Given the description of an element on the screen output the (x, y) to click on. 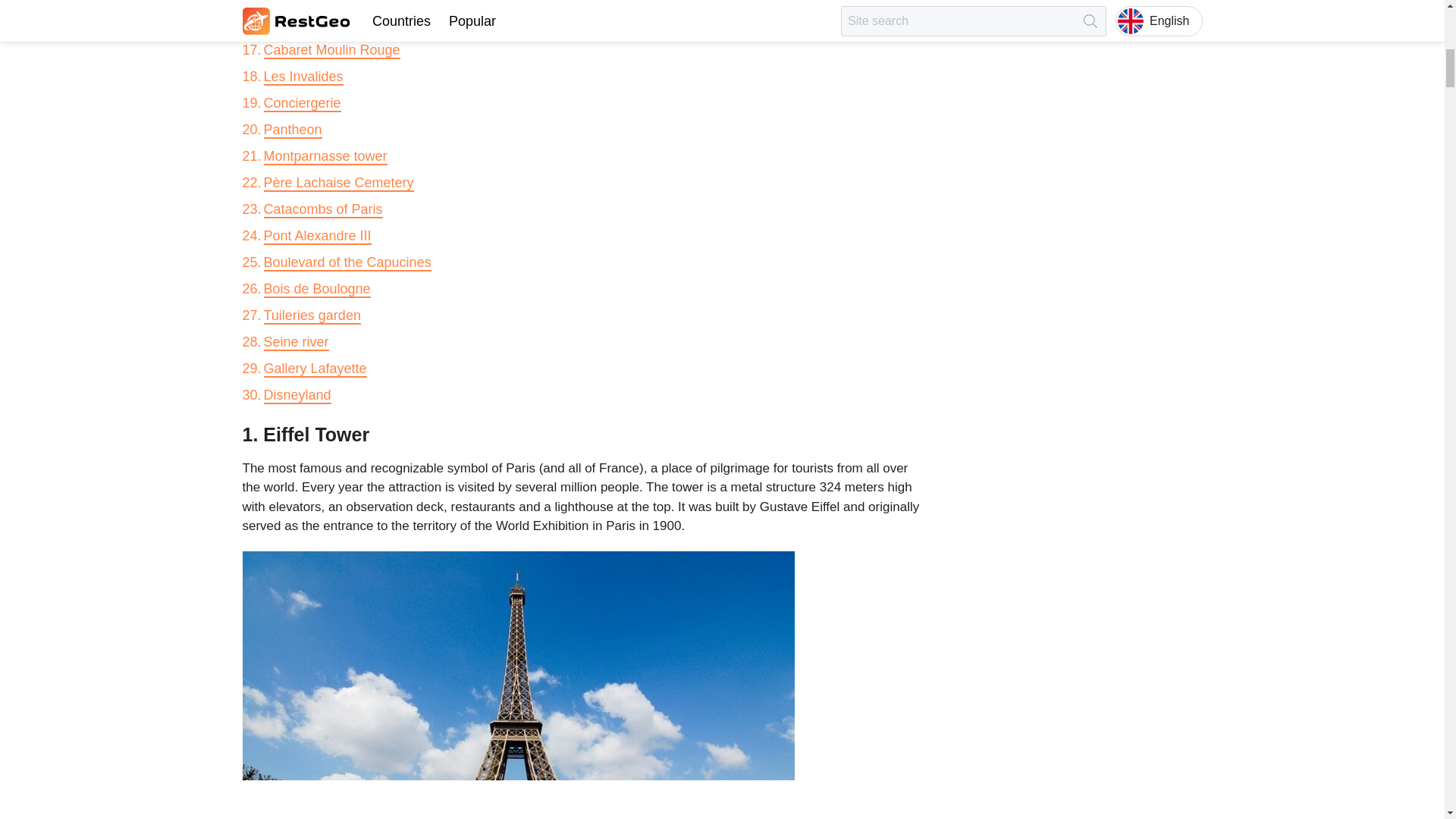
Opera Garnier (306, 23)
Montparnasse tower (325, 156)
Pont Alexandre III (317, 236)
Cabaret Moulin Rouge (331, 50)
Les Invalides (303, 76)
Musee d'Orsay (309, 2)
Seine river (296, 342)
Pantheon (292, 130)
Bois de Boulogne (317, 289)
Tuileries garden (312, 315)
Boulevard of the Capucines (346, 262)
Conciergerie (301, 103)
Disneyland (297, 395)
Gallery Lafayette (314, 369)
Catacombs of Paris (322, 209)
